Given the description of an element on the screen output the (x, y) to click on. 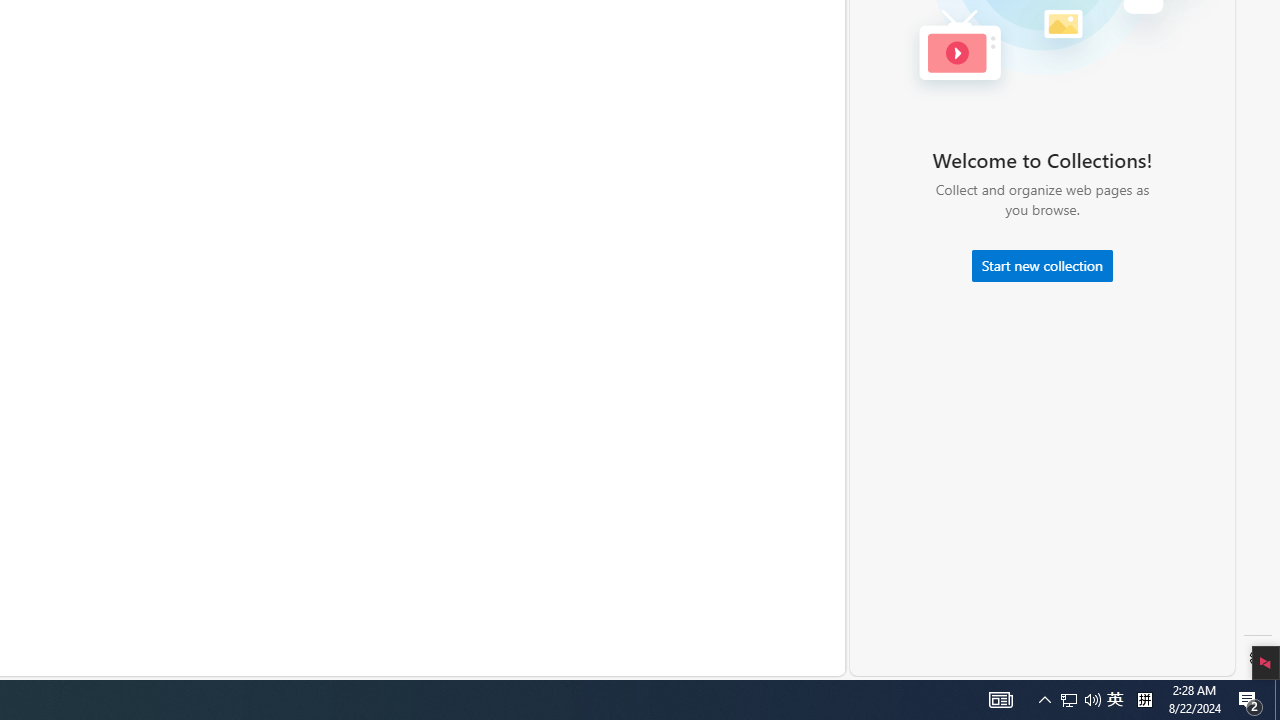
Start new collection (1042, 265)
